Given the description of an element on the screen output the (x, y) to click on. 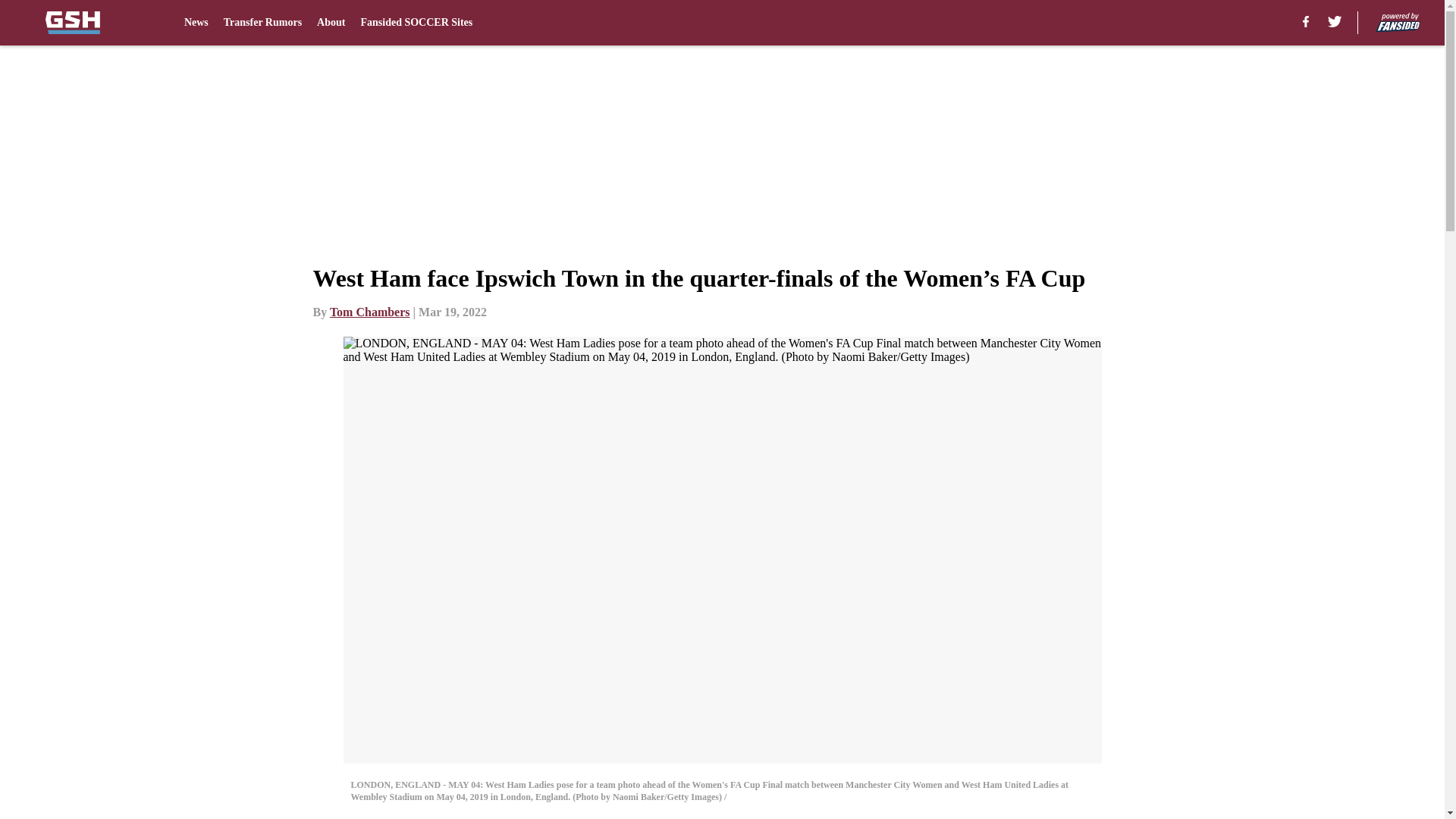
Transfer Rumors (262, 22)
About (331, 22)
News (196, 22)
Fansided SOCCER Sites (415, 22)
Tom Chambers (370, 311)
